Given the description of an element on the screen output the (x, y) to click on. 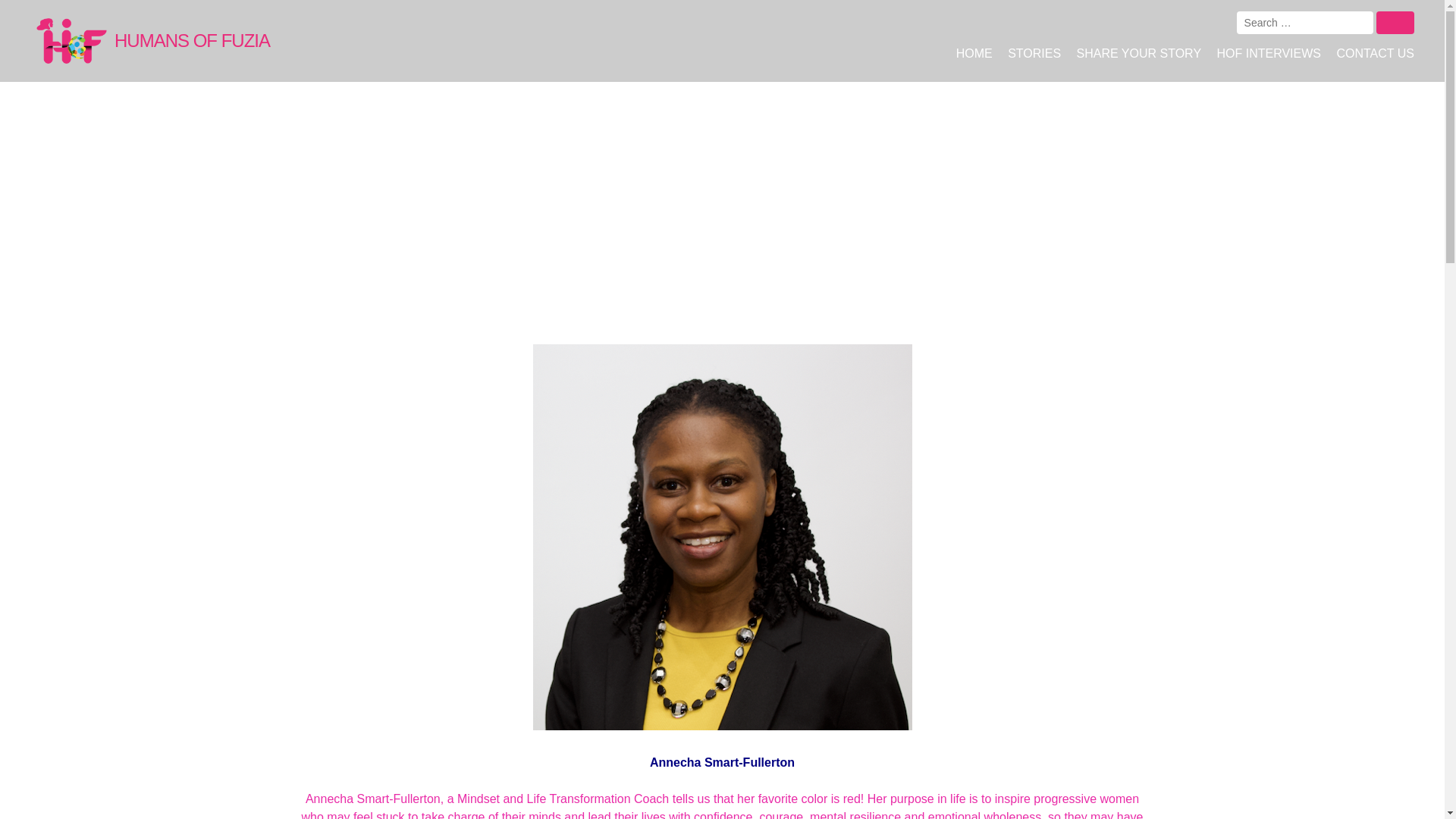
HOME (974, 52)
HUMANS OF FUZIA (152, 40)
Search (1394, 22)
CONTACT US (1375, 52)
Search (1394, 22)
Search (1394, 22)
SHARE YOUR STORY (1139, 52)
STORIES (1034, 52)
HOF INTERVIEWS (1269, 52)
